Given the description of an element on the screen output the (x, y) to click on. 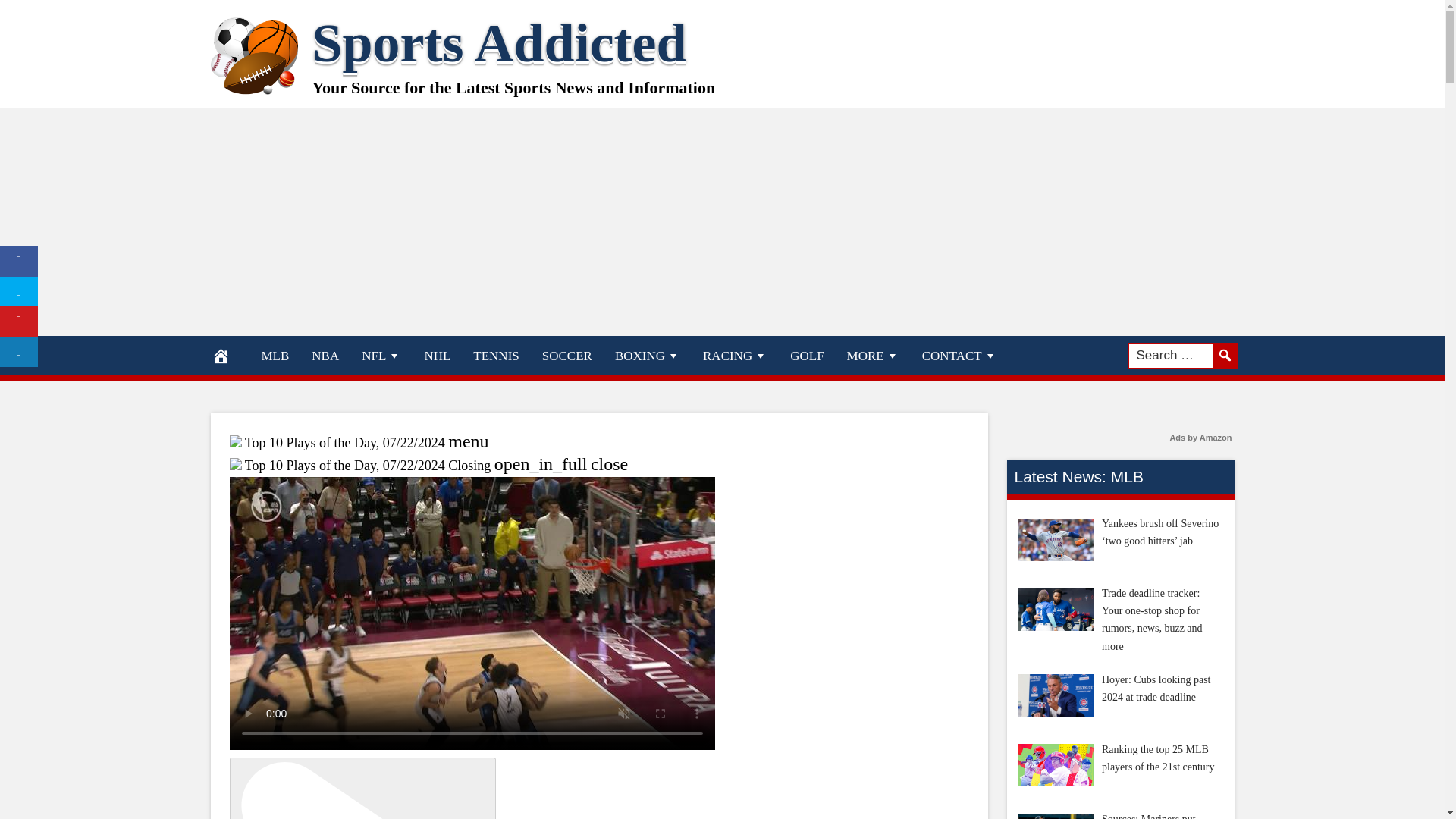
MLB (275, 355)
NBA (324, 355)
NFL (381, 355)
Sports Addicted (500, 43)
NHL (436, 355)
